Given the description of an element on the screen output the (x, y) to click on. 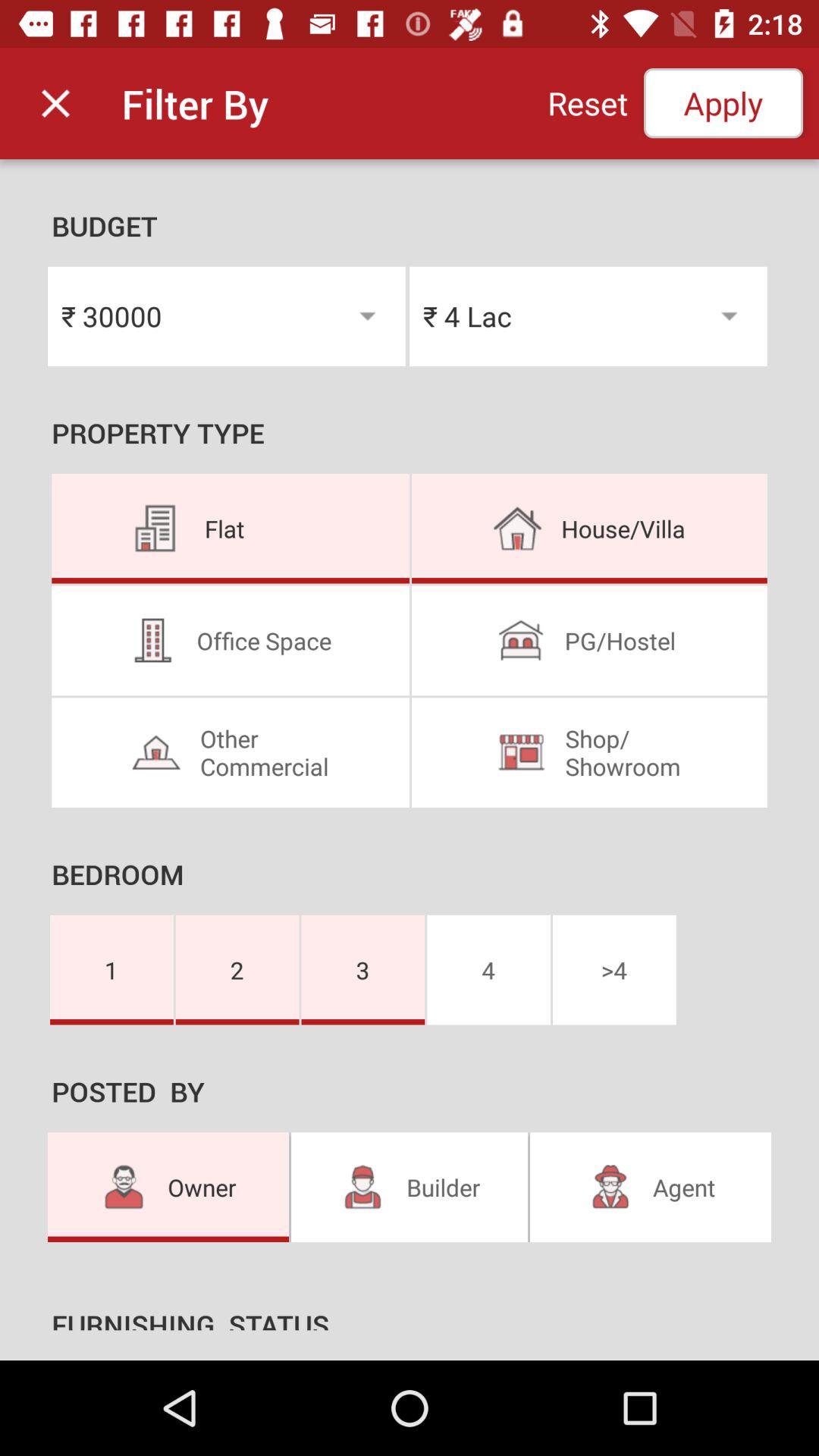
open icon above budget item (587, 103)
